Given the description of an element on the screen output the (x, y) to click on. 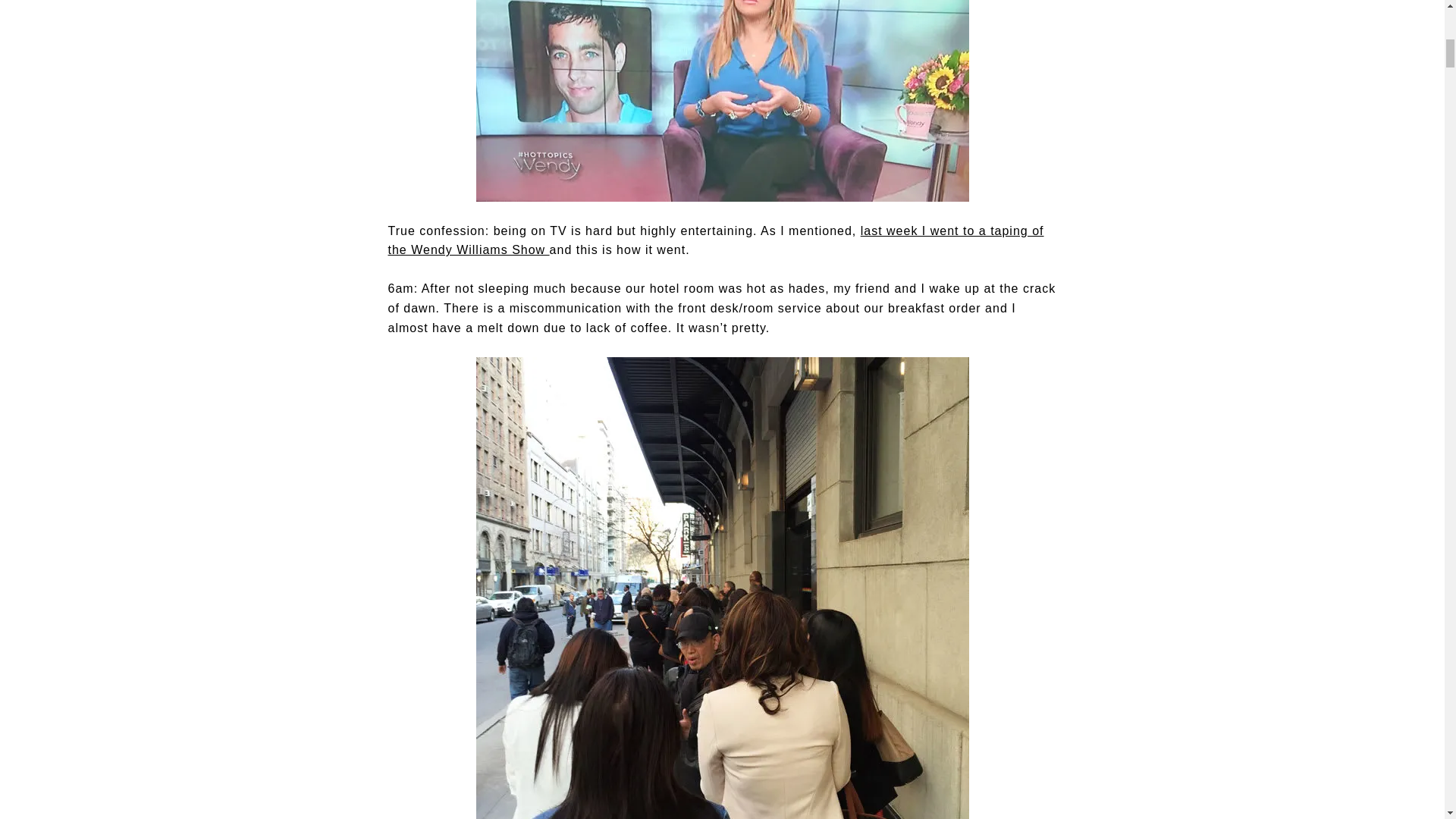
last week I went to a taping of the Wendy Williams Show  (715, 240)
